Given the description of an element on the screen output the (x, y) to click on. 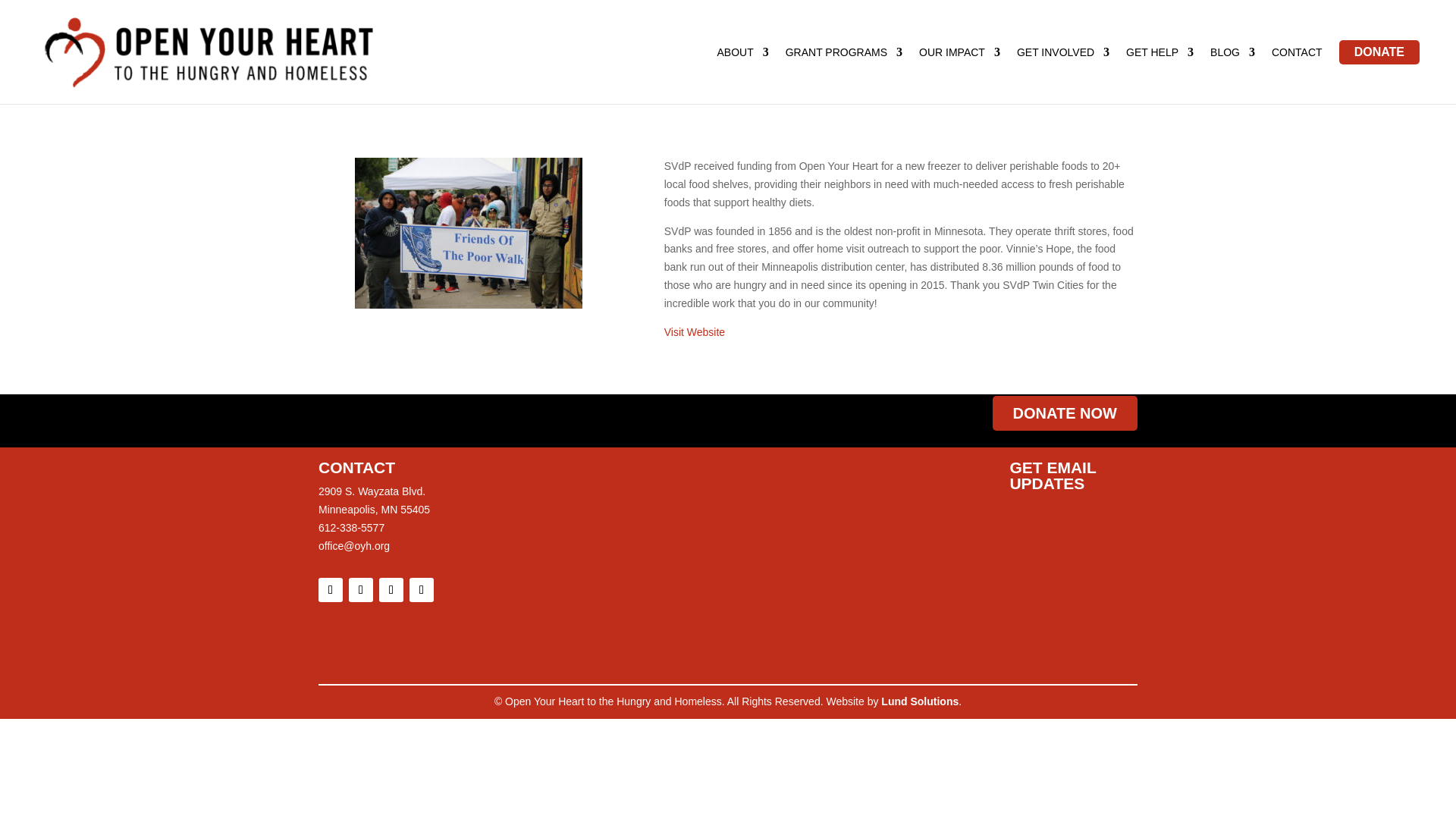
Follow on Instagram (360, 589)
Follow on LinkedIn (421, 589)
Follow on X (390, 589)
GET HELP (1159, 54)
DONATE NOW (1064, 412)
Visit Website (694, 331)
GRANT PROGRAMS (844, 54)
DONATE (1379, 52)
BLOG (1232, 54)
OUR IMPACT (959, 54)
